Given the description of an element on the screen output the (x, y) to click on. 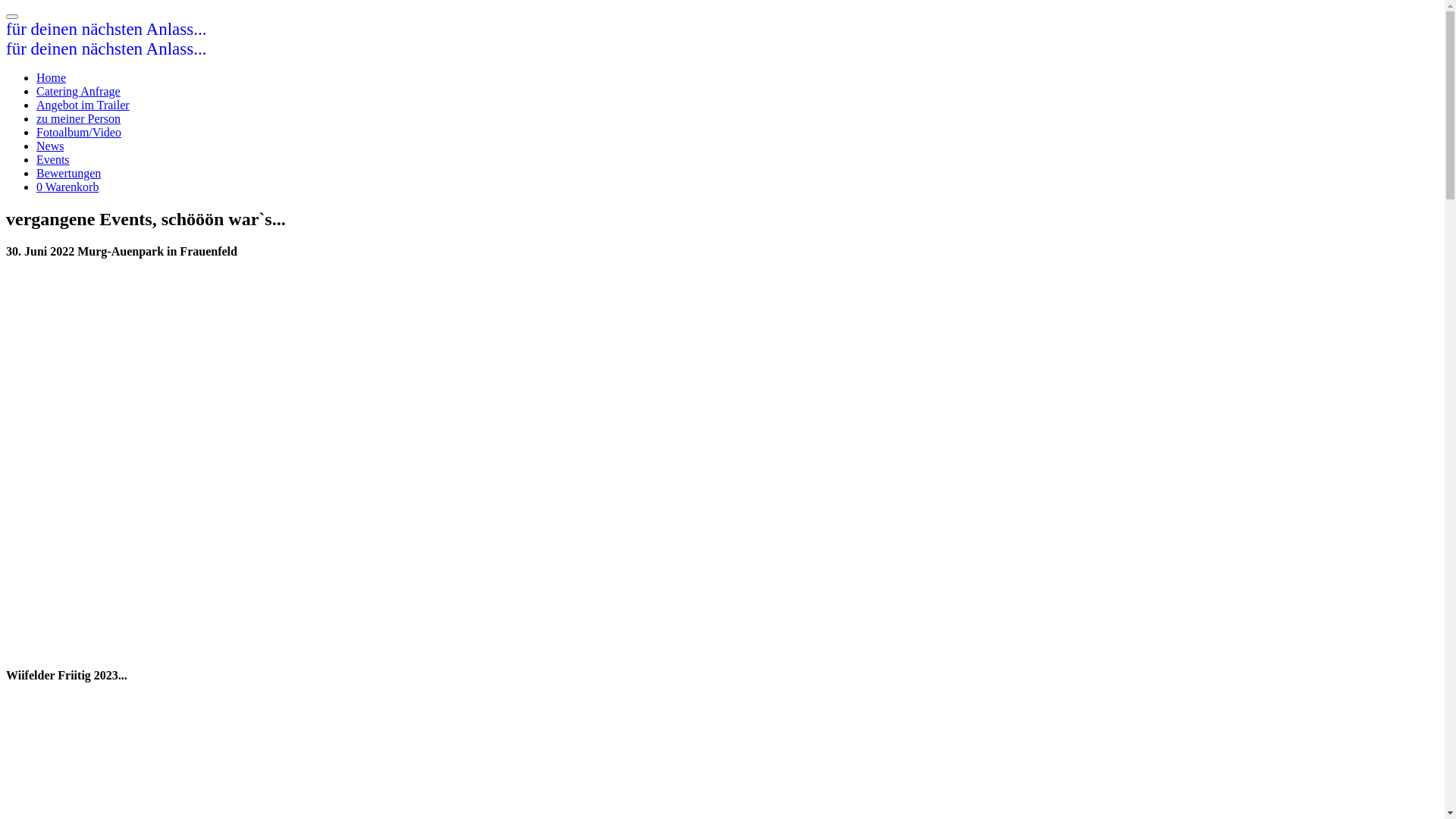
zu meiner Person Element type: text (78, 118)
Angebot im Trailer Element type: text (82, 104)
News Element type: text (49, 145)
Bewertungen Element type: text (68, 172)
Home Element type: text (50, 77)
Catering Anfrage Element type: text (78, 90)
0 Warenkorb Element type: text (67, 186)
Events Element type: text (52, 159)
Fotoalbum/Video Element type: text (78, 131)
